Given the description of an element on the screen output the (x, y) to click on. 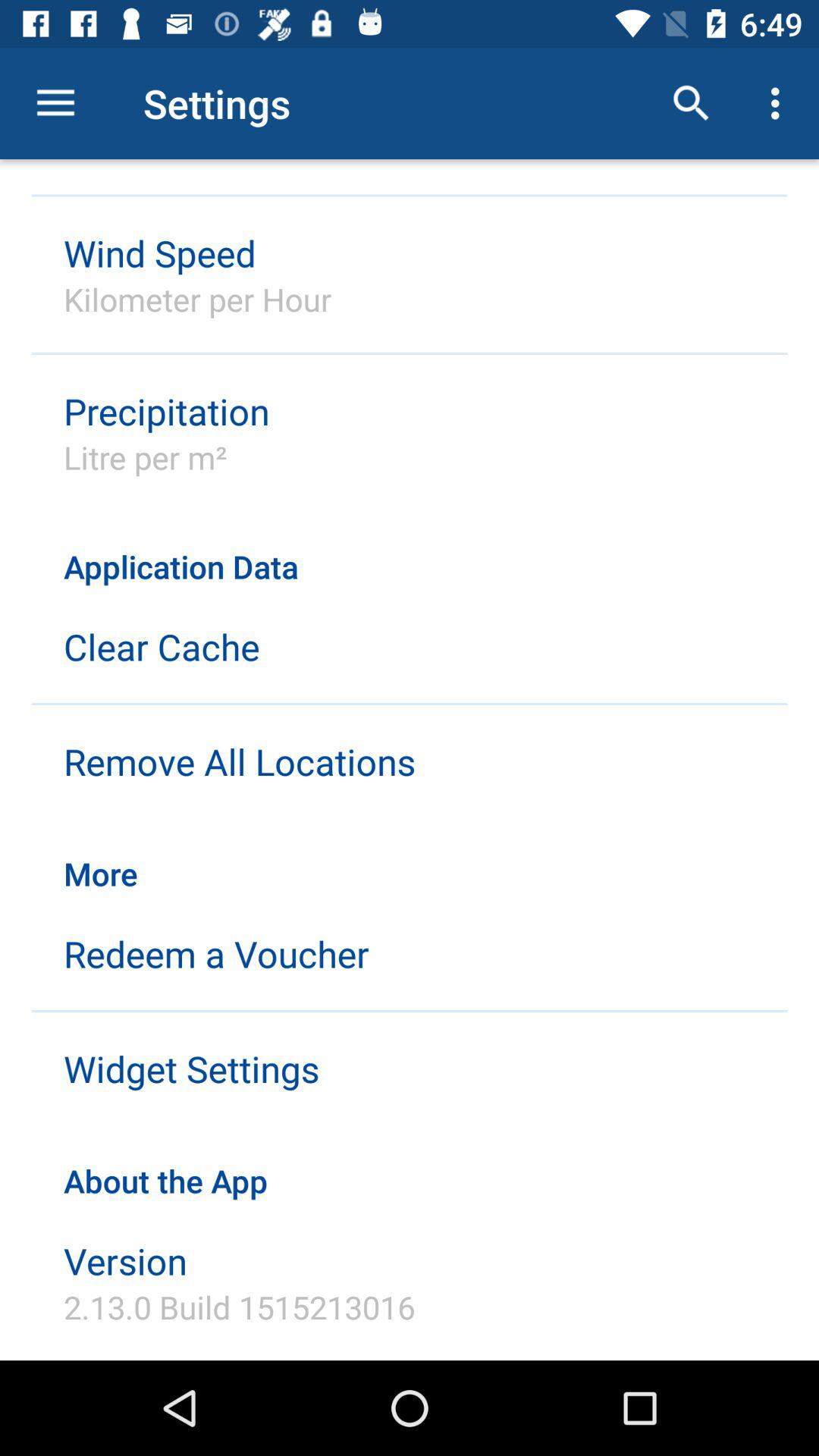
press application data item (409, 550)
